Given the description of an element on the screen output the (x, y) to click on. 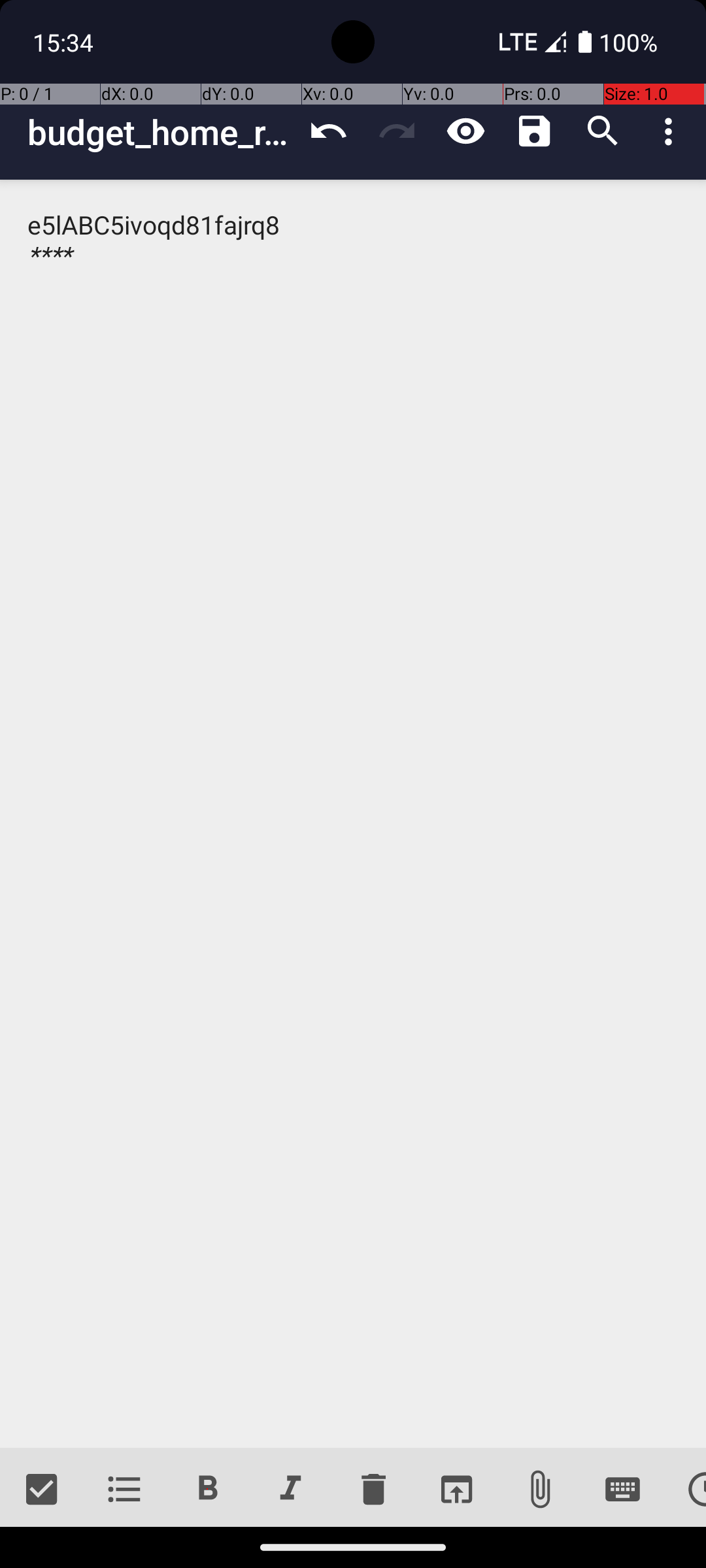
budget_home_renovation_copy Element type: android.widget.TextView (160, 131)
e5lABC5ivoqd81fajrq8
**** Element type: android.widget.EditText (353, 813)
